Given the description of an element on the screen output the (x, y) to click on. 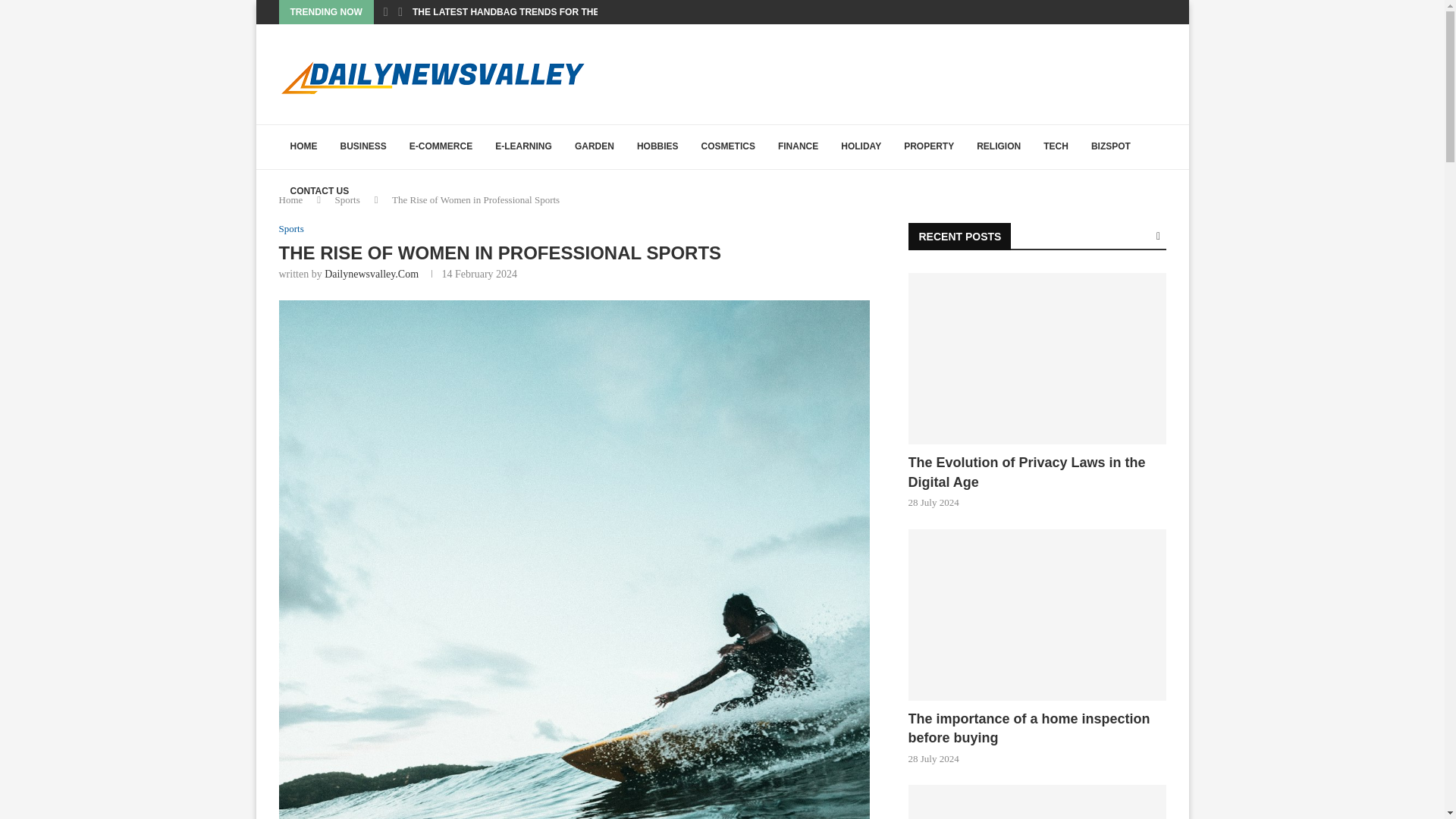
TECH (1056, 146)
GARDEN (594, 146)
BUSINESS (363, 146)
E-LEARNING (523, 146)
PROPERTY (928, 146)
E-COMMERCE (440, 146)
HOBBIES (658, 146)
RELIGION (998, 146)
THE LATEST HANDBAG TRENDS FOR THE SEASON (526, 12)
BIZSPOT (1110, 146)
HOME (304, 146)
COSMETICS (728, 146)
HOLIDAY (860, 146)
CONTACT US (320, 191)
